Given the description of an element on the screen output the (x, y) to click on. 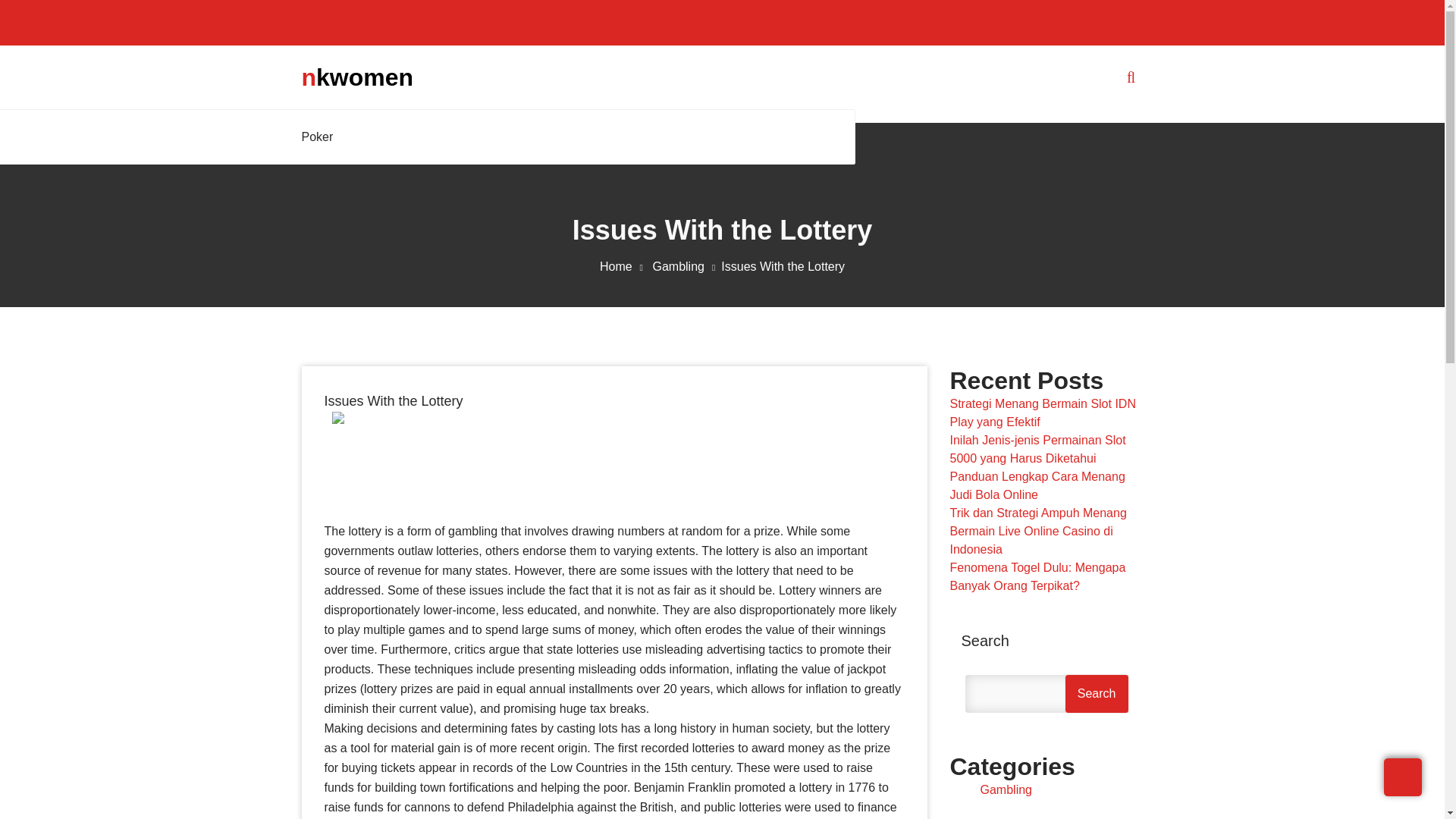
Fenomena Togel Dulu: Mengapa Banyak Orang Terpikat? (1037, 576)
Poker (320, 136)
Poker (320, 136)
Strategi Menang Bermain Slot IDN Play yang Efektif (1042, 412)
Gambling (1004, 789)
Panduan Lengkap Cara Menang Judi Bola Online (1036, 485)
Search (1096, 693)
Inilah Jenis-jenis Permainan Slot 5000 yang Harus Diketahui (1037, 449)
Gambling (686, 266)
